Given the description of an element on the screen output the (x, y) to click on. 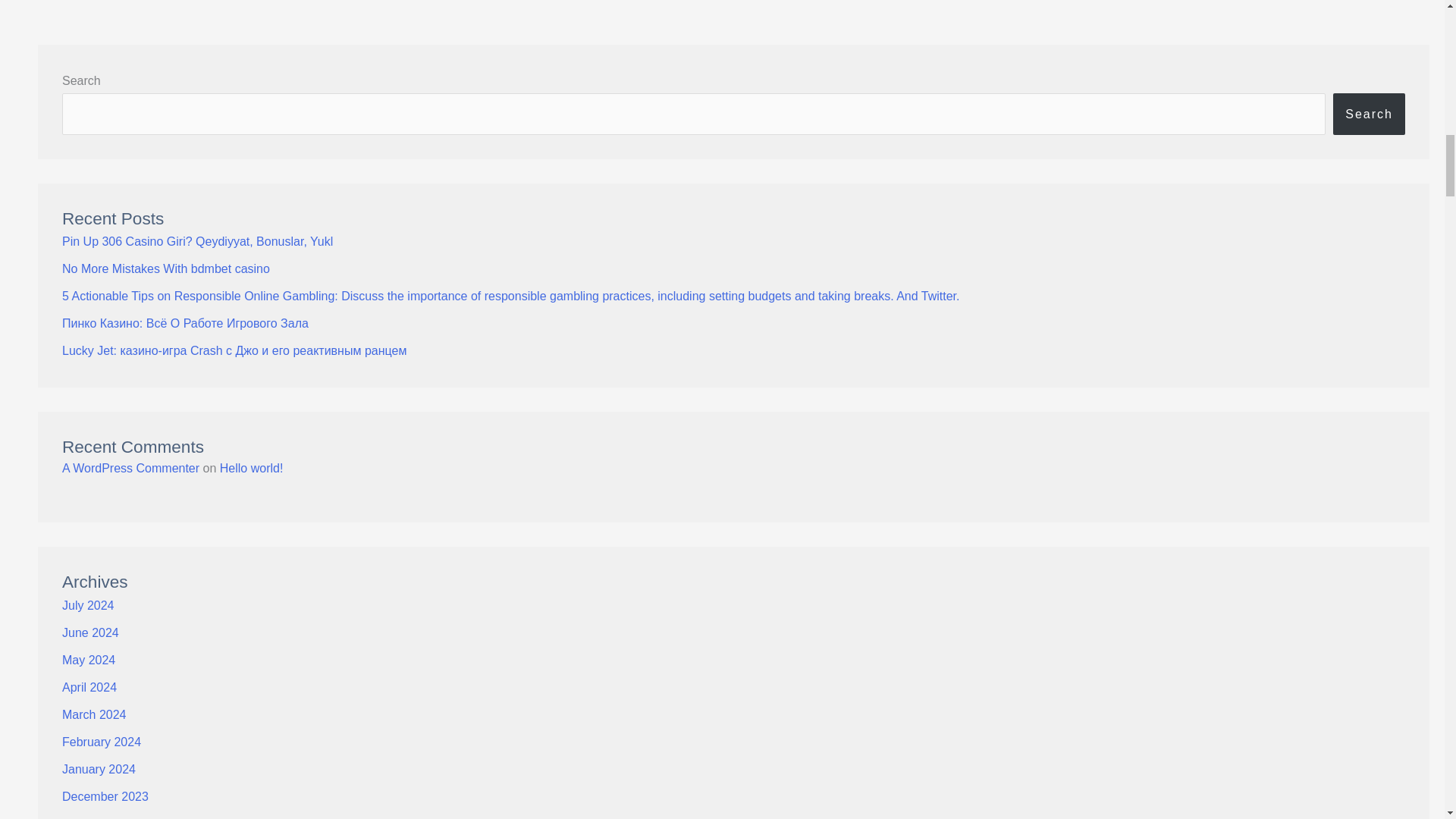
May 2024 (88, 659)
December 2023 (105, 796)
A WordPress Commenter (130, 468)
Pin Up 306 Casino Giri? Qeydiyyat, Bonuslar, Yukl (197, 241)
Hello world! (251, 468)
July 2024 (88, 604)
No More Mistakes With bdmbet casino (165, 268)
April 2024 (89, 686)
January 2024 (98, 768)
